Given the description of an element on the screen output the (x, y) to click on. 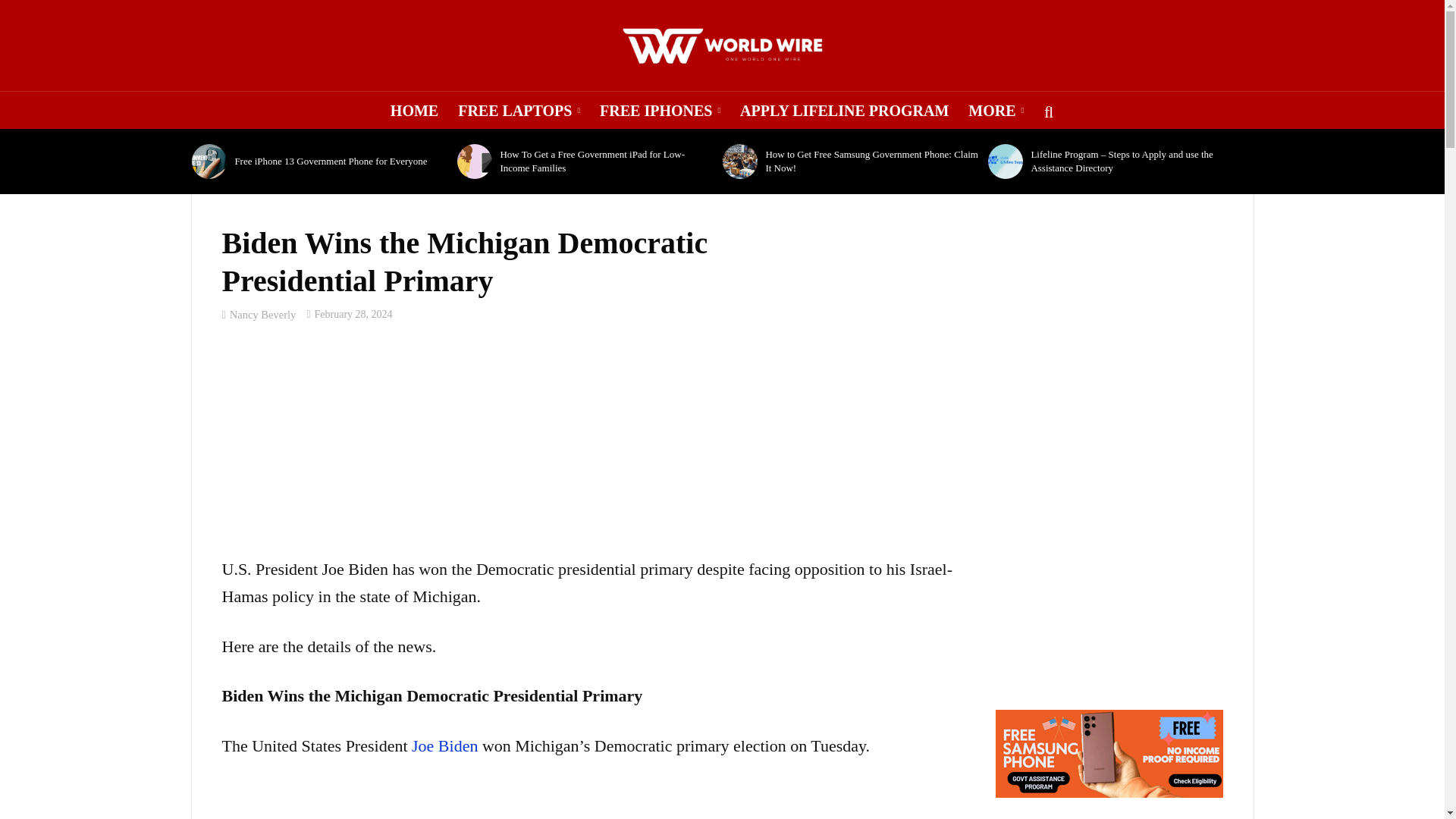
FREE IPHONES (659, 110)
How to Get Free Samsung Government Phone: Claim It Now! (739, 161)
HOME (414, 110)
MORE (995, 110)
FREE LAPTOPS (518, 110)
Free iPhone 13 Government Phone for Everyone (208, 161)
How To Get a Free Government iPad for Low-Income Families (474, 161)
APPLY LIFELINE PROGRAM (844, 110)
